Given the description of an element on the screen output the (x, y) to click on. 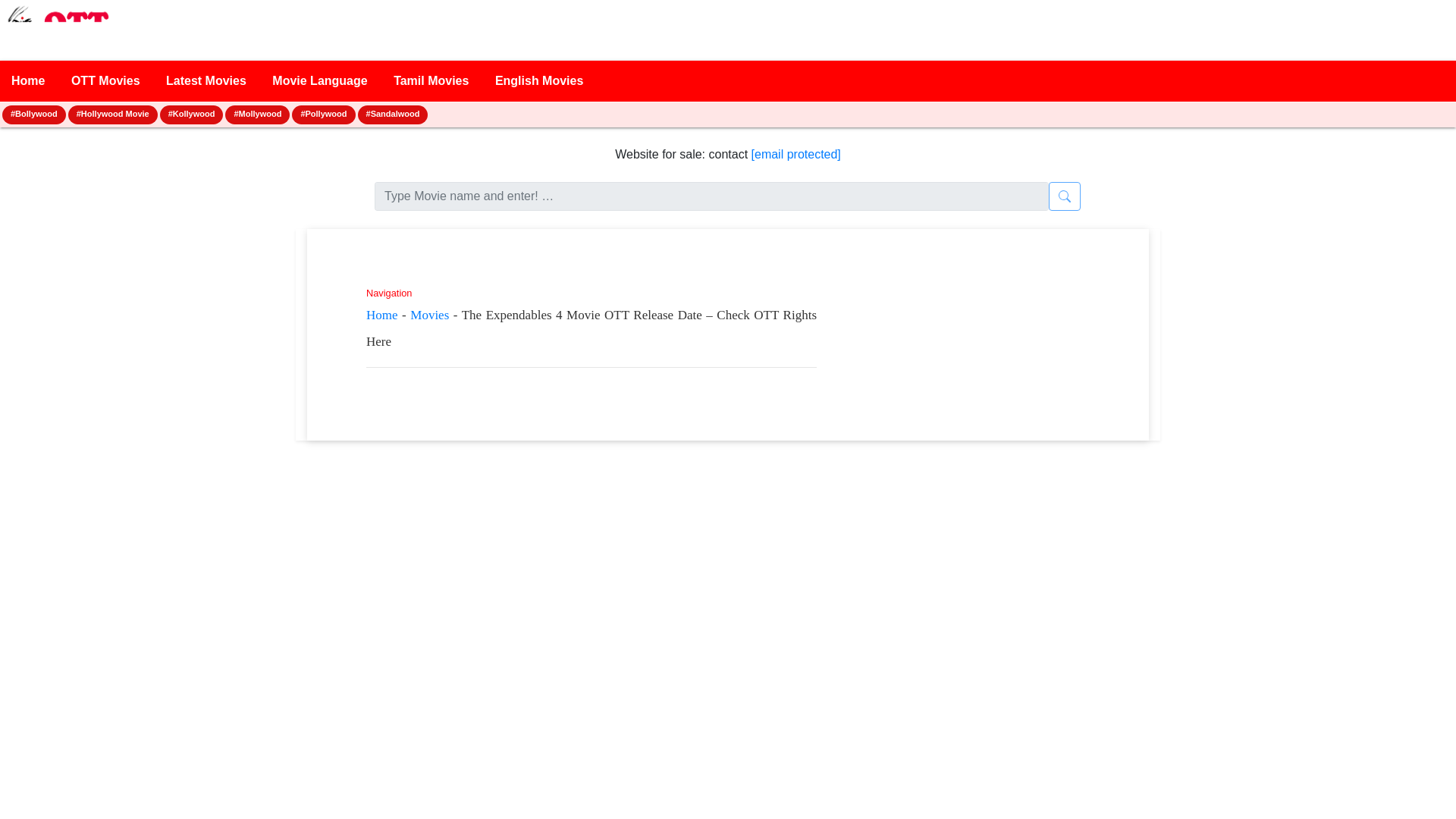
Latest Movies (205, 80)
Home (381, 314)
OTT Movies (105, 80)
Search for: (711, 195)
Home (28, 80)
Movie Language (319, 80)
Tamil Movies (430, 80)
English Movies (538, 80)
Movies (429, 314)
